Given the description of an element on the screen output the (x, y) to click on. 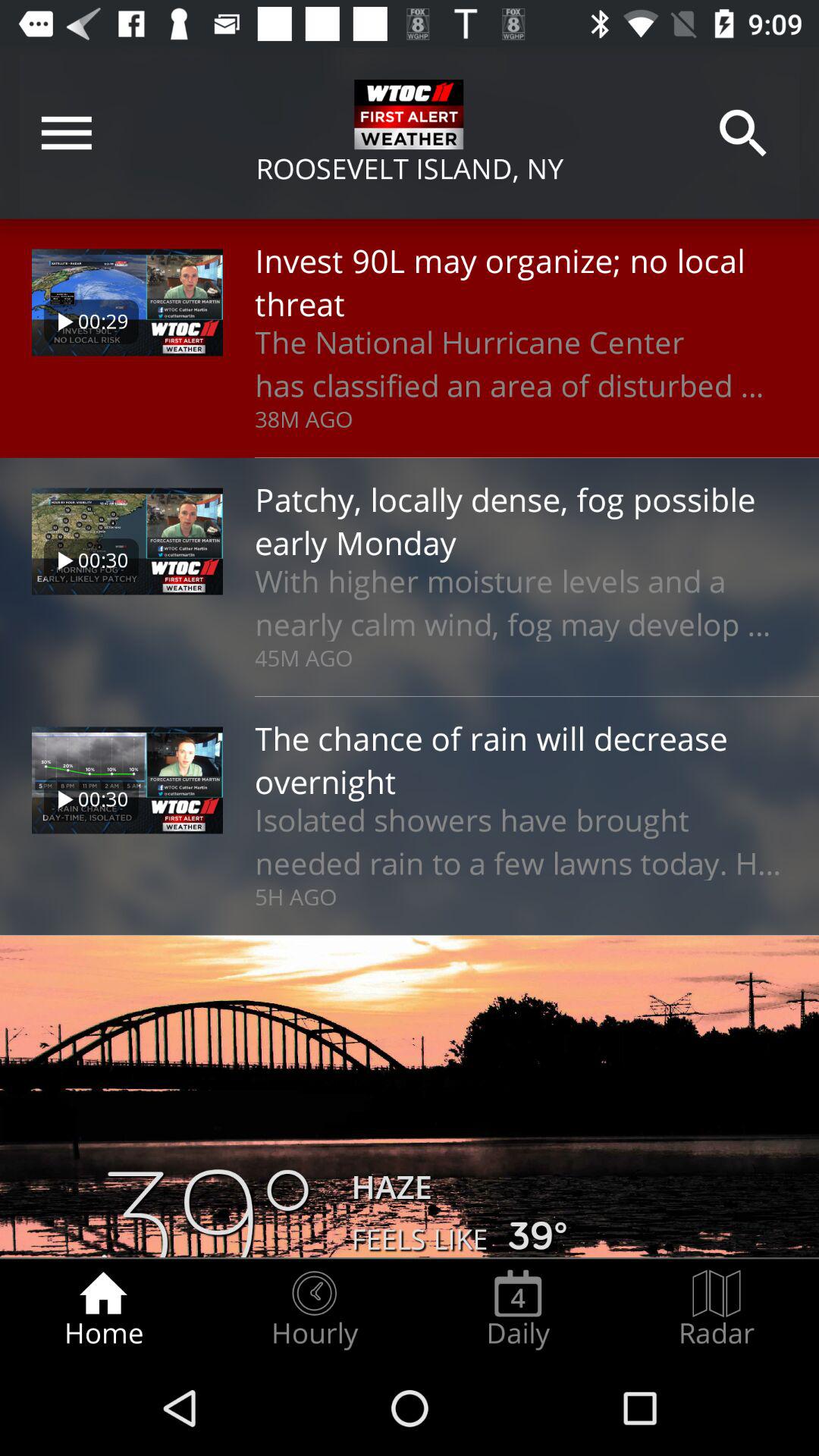
open the radio button next to the daily item (314, 1309)
